Given the description of an element on the screen output the (x, y) to click on. 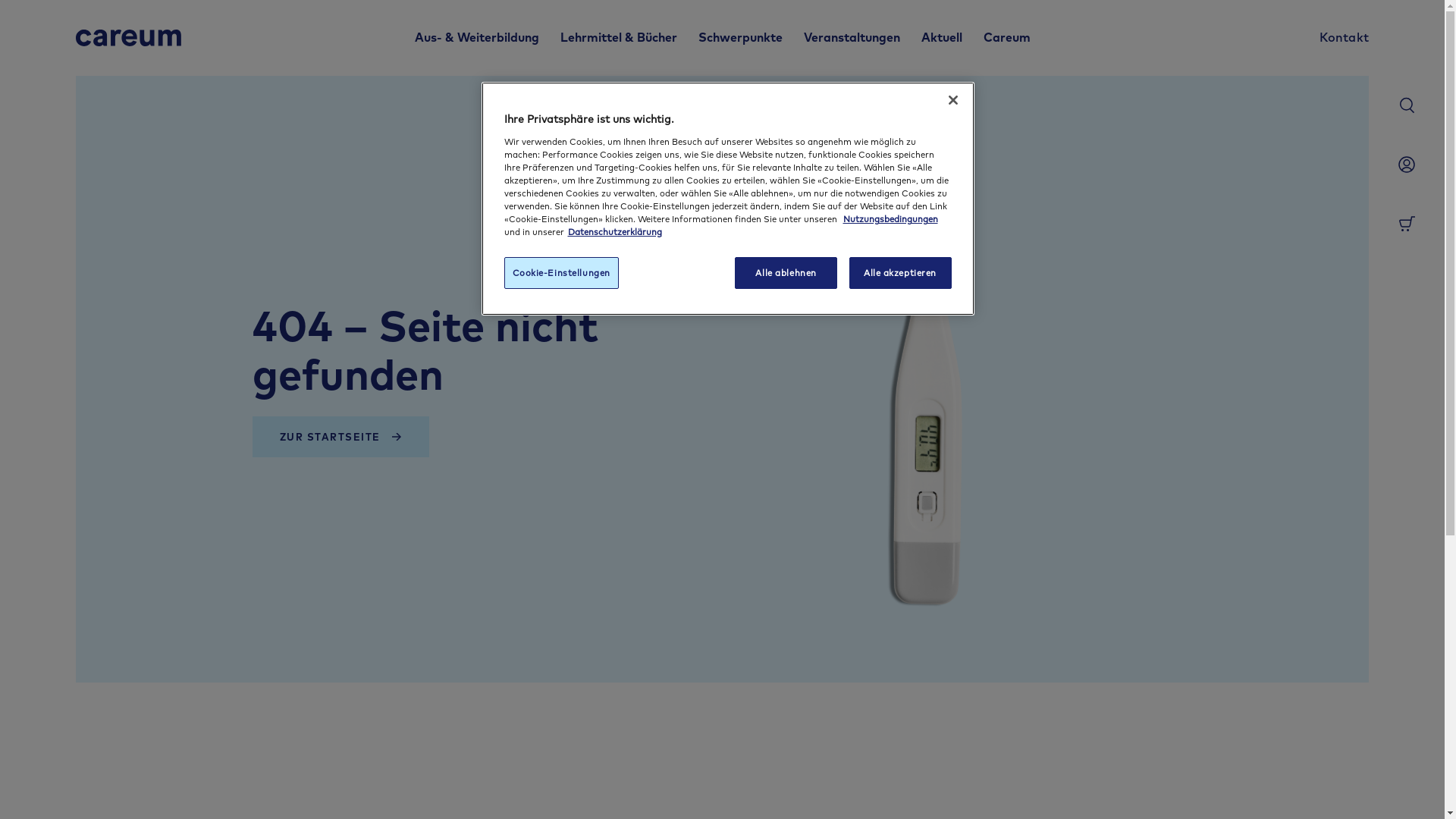
Alle akzeptieren Element type: text (900, 272)
Nutzungsbedingungen Element type: text (890, 218)
Aktuell Element type: text (940, 37)
Cookie-Einstellungen Element type: text (560, 272)
Kontakt Element type: text (1343, 37)
ZUR STARTSEITE Element type: text (339, 436)
Alle ablehnen Element type: text (785, 272)
